Given the description of an element on the screen output the (x, y) to click on. 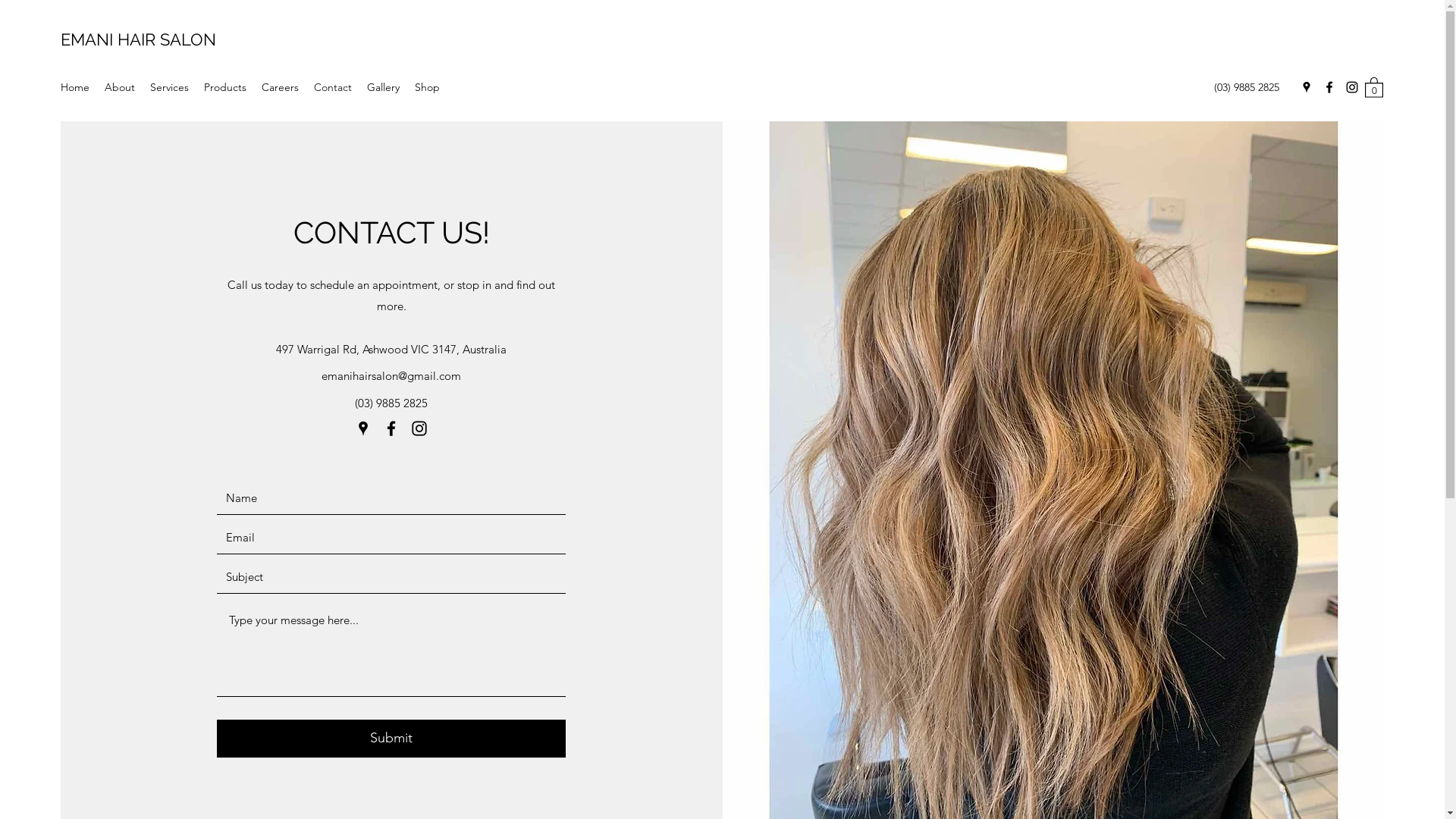
Contact Element type: text (332, 86)
0 Element type: text (1374, 86)
emanihairsalon@gmail.com Element type: text (391, 375)
Products Element type: text (225, 86)
Careers Element type: text (280, 86)
Shop Element type: text (427, 86)
Home Element type: text (75, 86)
Services Element type: text (169, 86)
EMANI HAIR SALON Element type: text (138, 39)
Submit Element type: text (390, 738)
Gallery Element type: text (383, 86)
About Element type: text (119, 86)
